Given the description of an element on the screen output the (x, y) to click on. 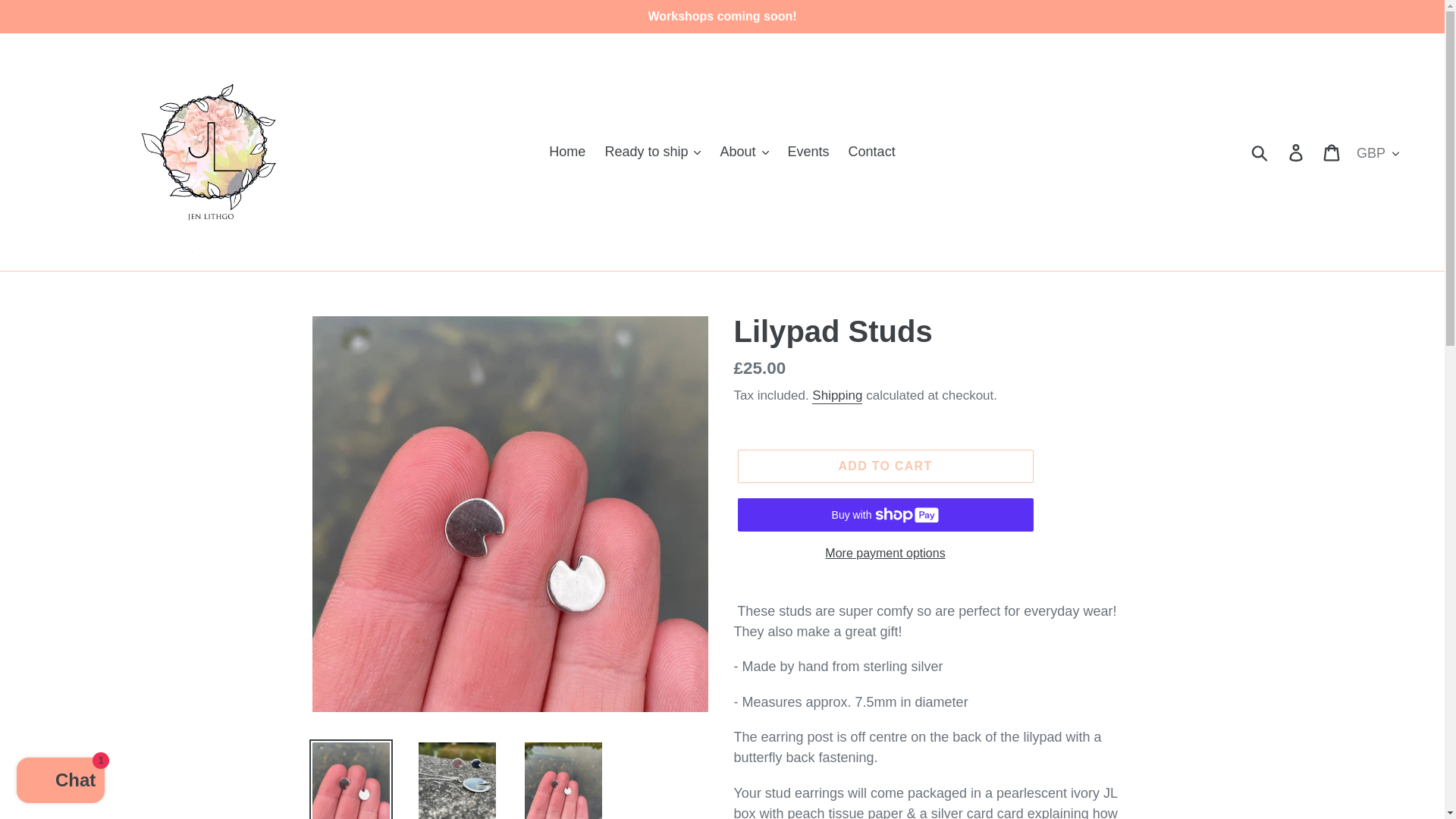
Home (566, 151)
Cart (1332, 151)
Shopify online store chat (60, 781)
Log in (1296, 151)
Submit (1260, 151)
Events (808, 151)
Contact (871, 151)
